Given the description of an element on the screen output the (x, y) to click on. 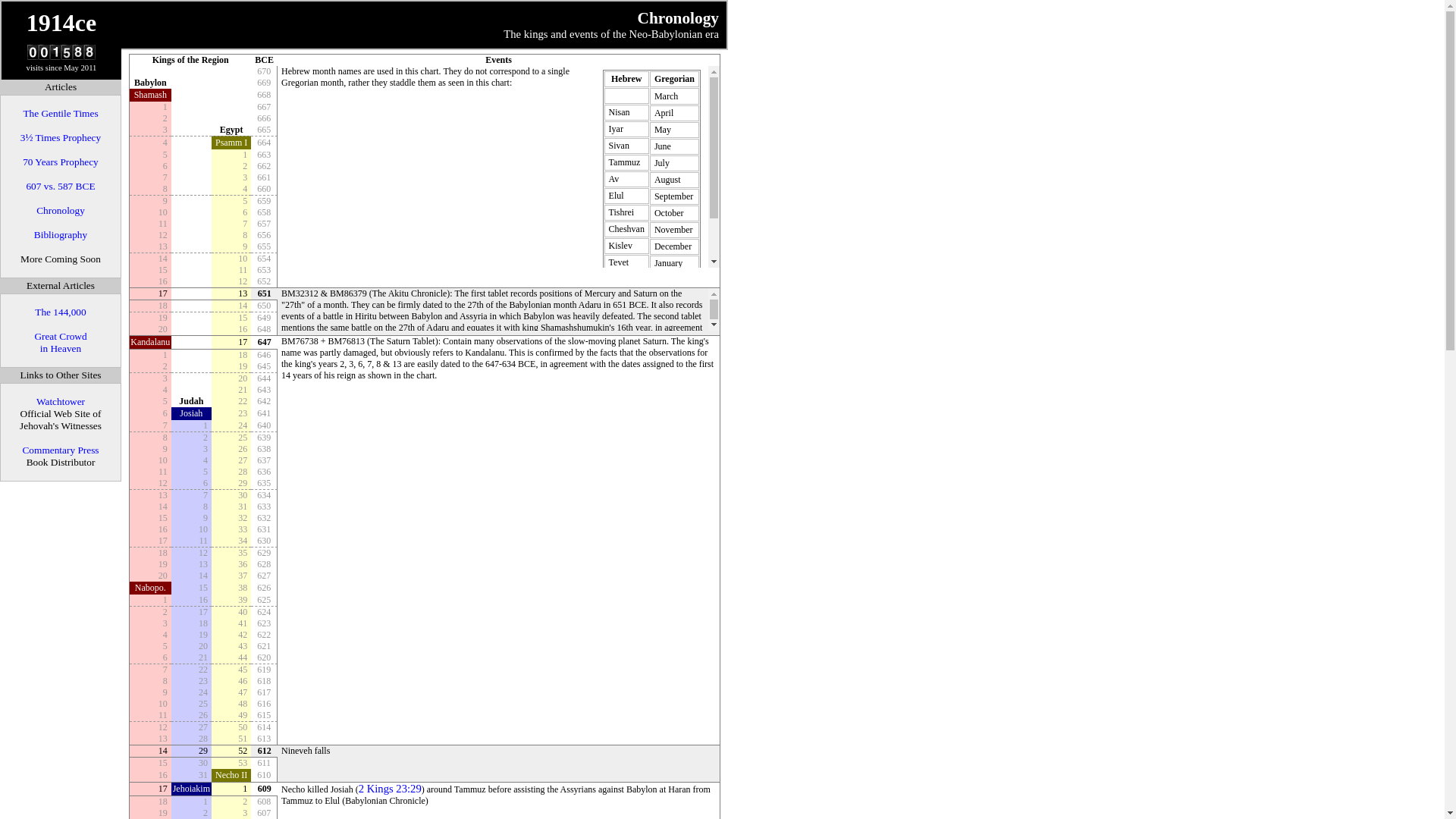
The 144,000 Element type: text (59, 311)
Great Crowd
in Heaven Element type: text (60, 342)
The Gentile Times Element type: text (59, 113)
70 Years Prophecy Element type: text (60, 161)
Commentary Press Element type: text (59, 449)
Chronology Element type: text (60, 210)
Watchtower Element type: text (60, 401)
607 vs. 587 BCE Element type: text (59, 185)
Bibliography Element type: text (60, 234)
